Given the description of an element on the screen output the (x, y) to click on. 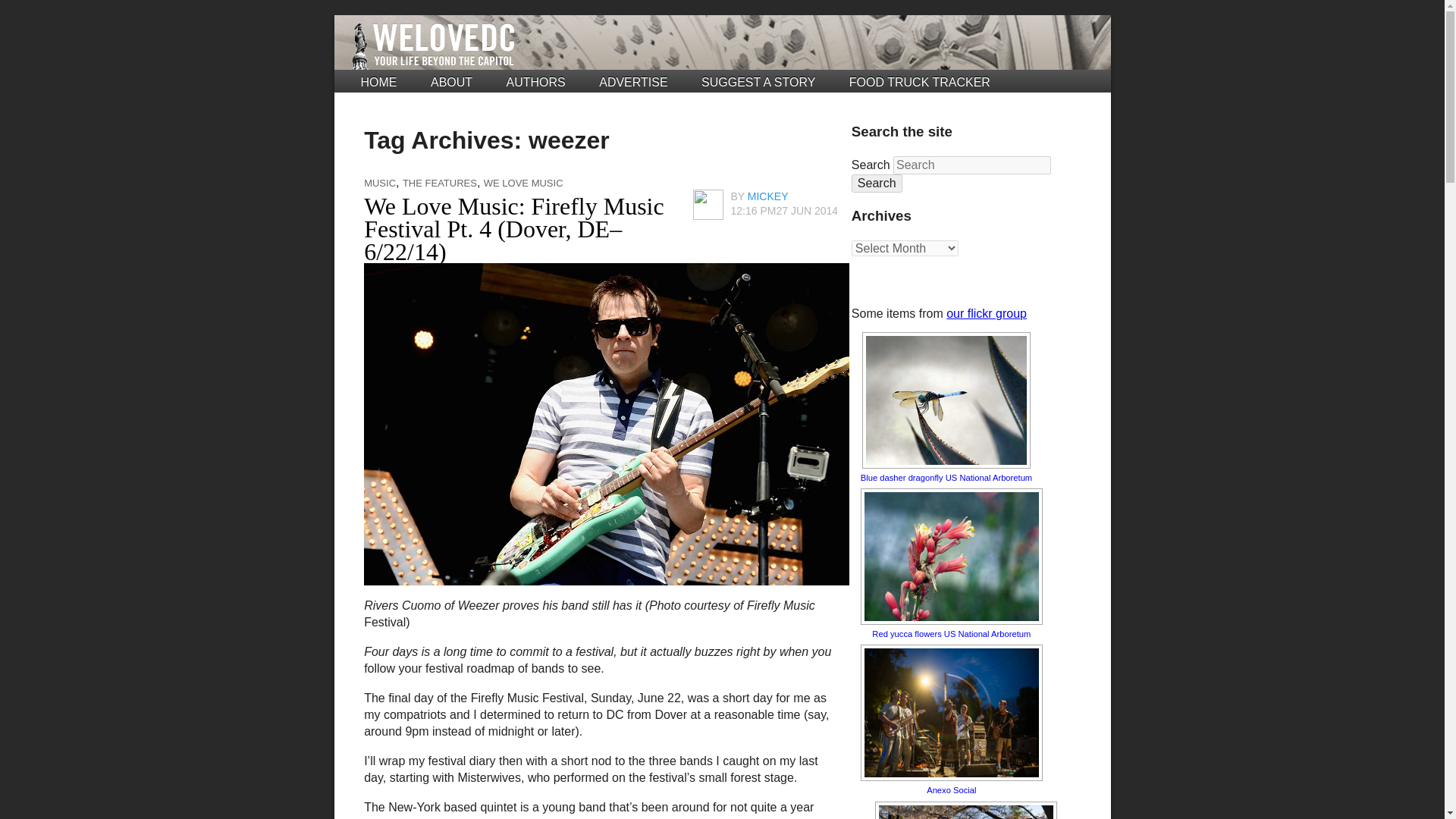
WE LOVE MUSIC (523, 183)
HOME (379, 82)
MUSIC (380, 183)
ADVERTISE (632, 82)
ABOUT (450, 82)
THE FEATURES (440, 183)
AUTHORS (536, 82)
